Given the description of an element on the screen output the (x, y) to click on. 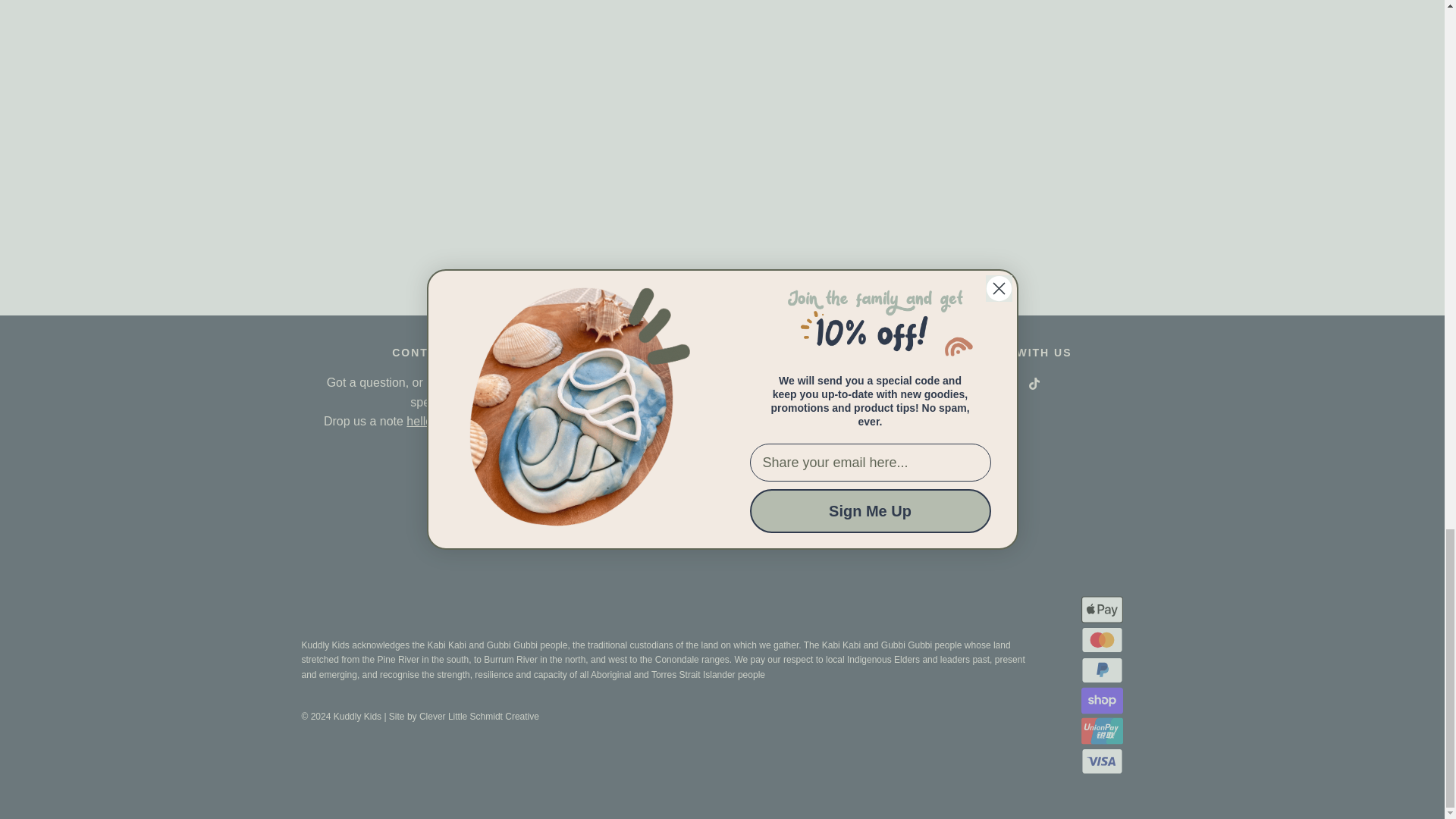
Visa (1101, 761)
TikTok icon (1034, 383)
Shop Pay (1101, 700)
PayPal (1101, 670)
Instagram icon (1010, 383)
Mastercard (1101, 639)
Union Pay (1101, 730)
Apple Pay (1101, 609)
Facebook icon (985, 383)
